Given the description of an element on the screen output the (x, y) to click on. 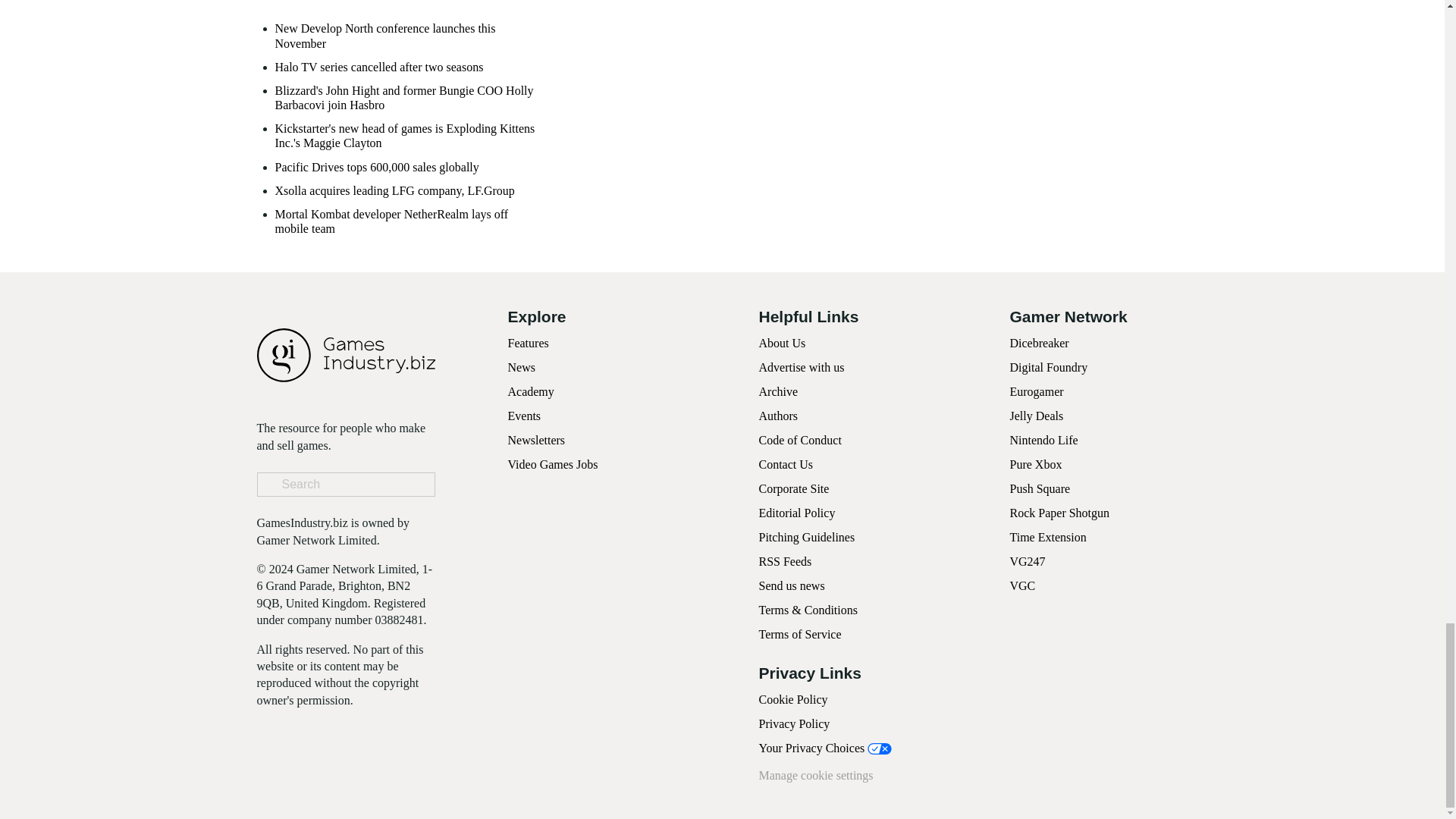
Archive (777, 391)
Features (528, 342)
Video Games Jobs (553, 463)
New Develop North conference launches this November (409, 35)
Events (524, 415)
Pacific Drives tops 600,000 sales globally (377, 166)
Academy (531, 391)
Halo TV series cancelled after two seasons (379, 66)
About Us (781, 342)
Mortal Kombat developer NetherRealm lays off mobile team (409, 221)
Xsolla acquires leading LFG company, LF.Group (394, 190)
Advertise with us (801, 367)
Newsletters (537, 440)
